Given the description of an element on the screen output the (x, y) to click on. 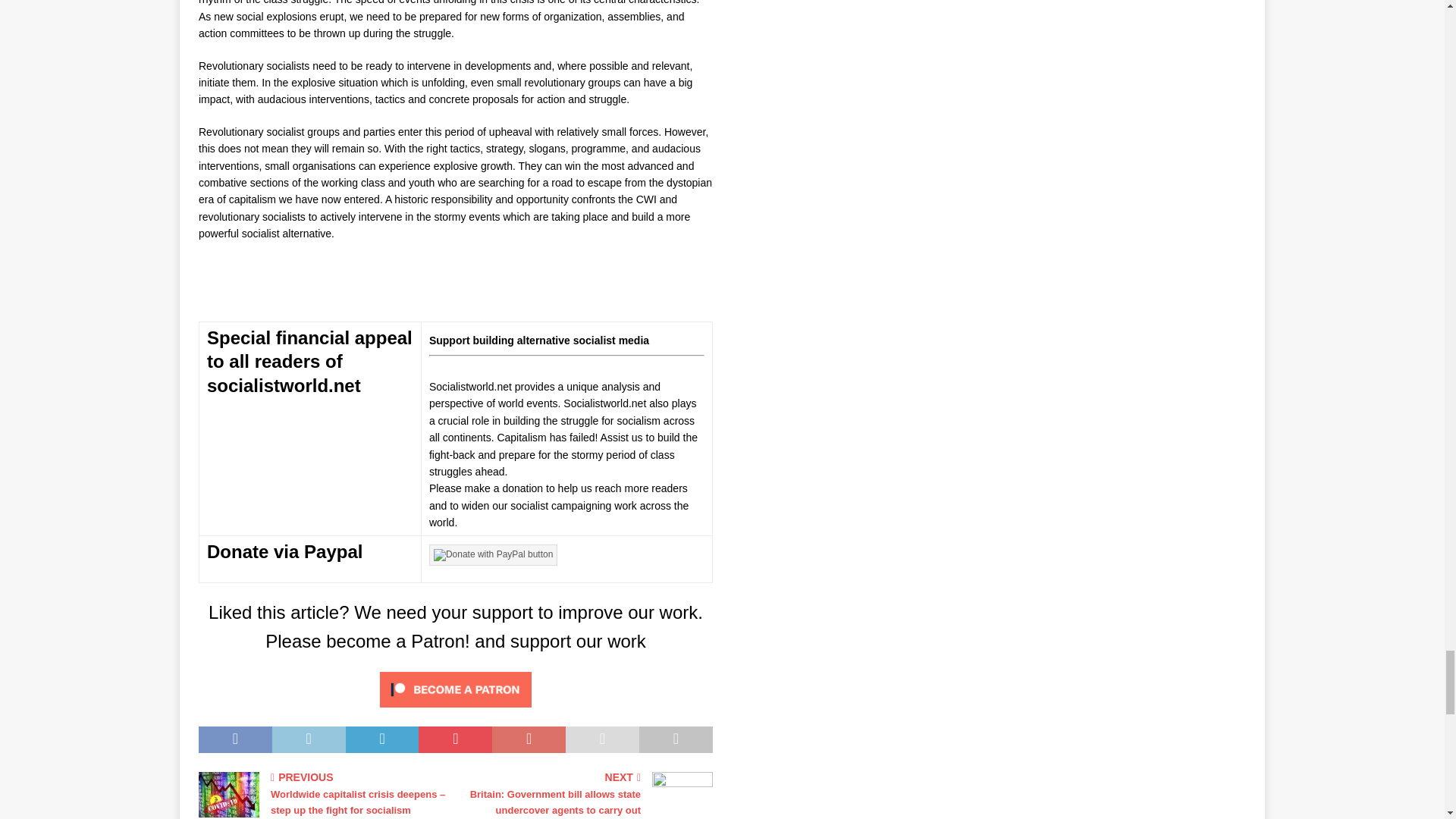
PayPal - The safer, easier way to pay online! (493, 554)
